Given the description of an element on the screen output the (x, y) to click on. 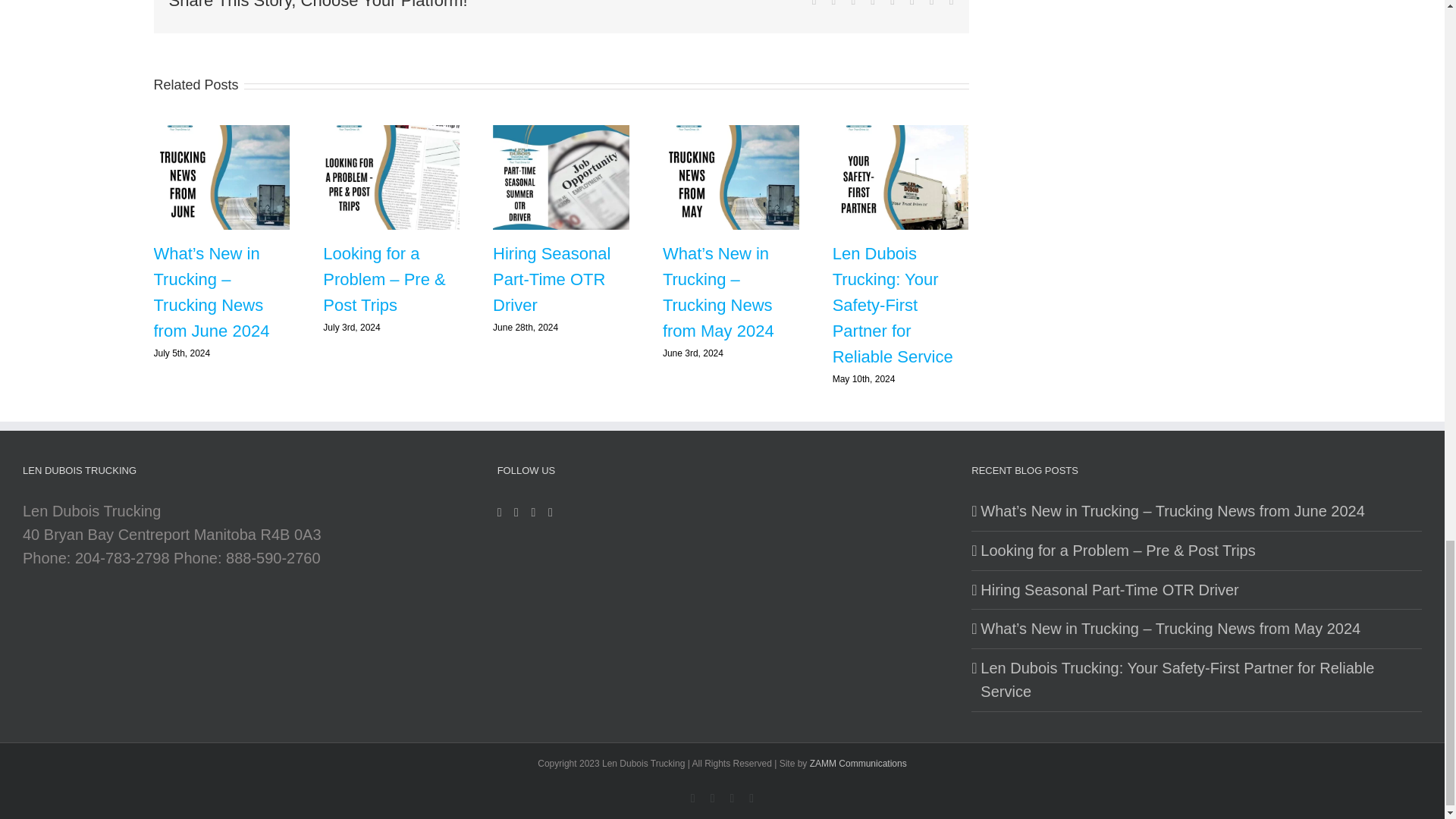
Hiring Seasonal Part-Time OTR Driver (551, 279)
